Given the description of an element on the screen output the (x, y) to click on. 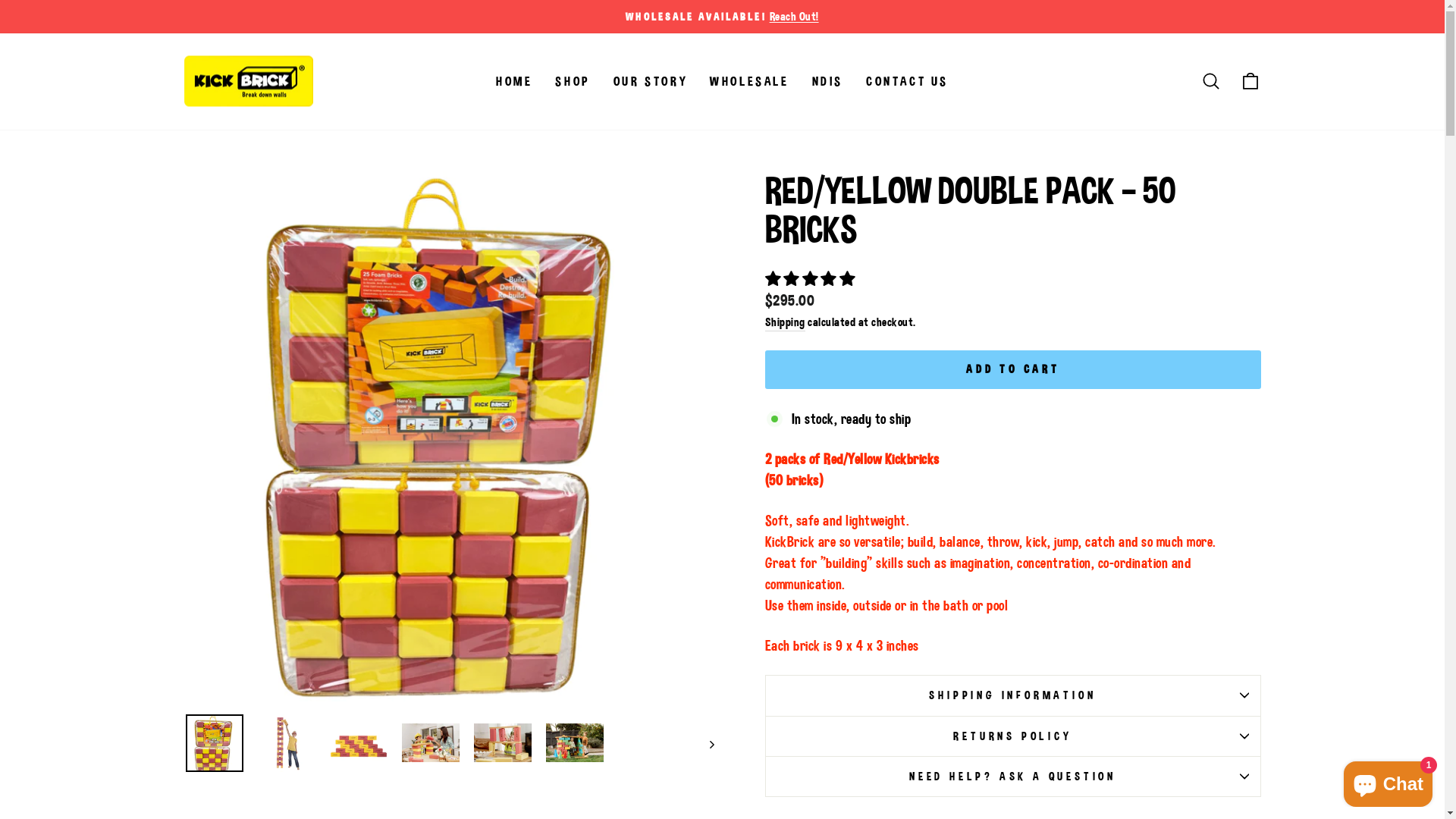
NDIS Element type: text (827, 80)
OUR STORY Element type: text (650, 80)
CONTACT US Element type: text (907, 80)
WHOLESALE Element type: text (749, 80)
SEARCH Element type: text (1210, 81)
Shipping Element type: text (784, 322)
SHIPPING INFORMATION Element type: text (1012, 694)
SHOP Element type: text (572, 80)
HOME Element type: text (513, 80)
NEED HELP? ASK A QUESTION Element type: text (1012, 776)
ADD TO CART Element type: text (987, 355)
Shopify online store chat Element type: hover (1388, 780)
WHOLESALE AVAILABLE!Reach Out! Element type: text (722, 16)
RETURNS POLICY Element type: text (1012, 735)
CART Element type: text (1249, 81)
